Given the description of an element on the screen output the (x, y) to click on. 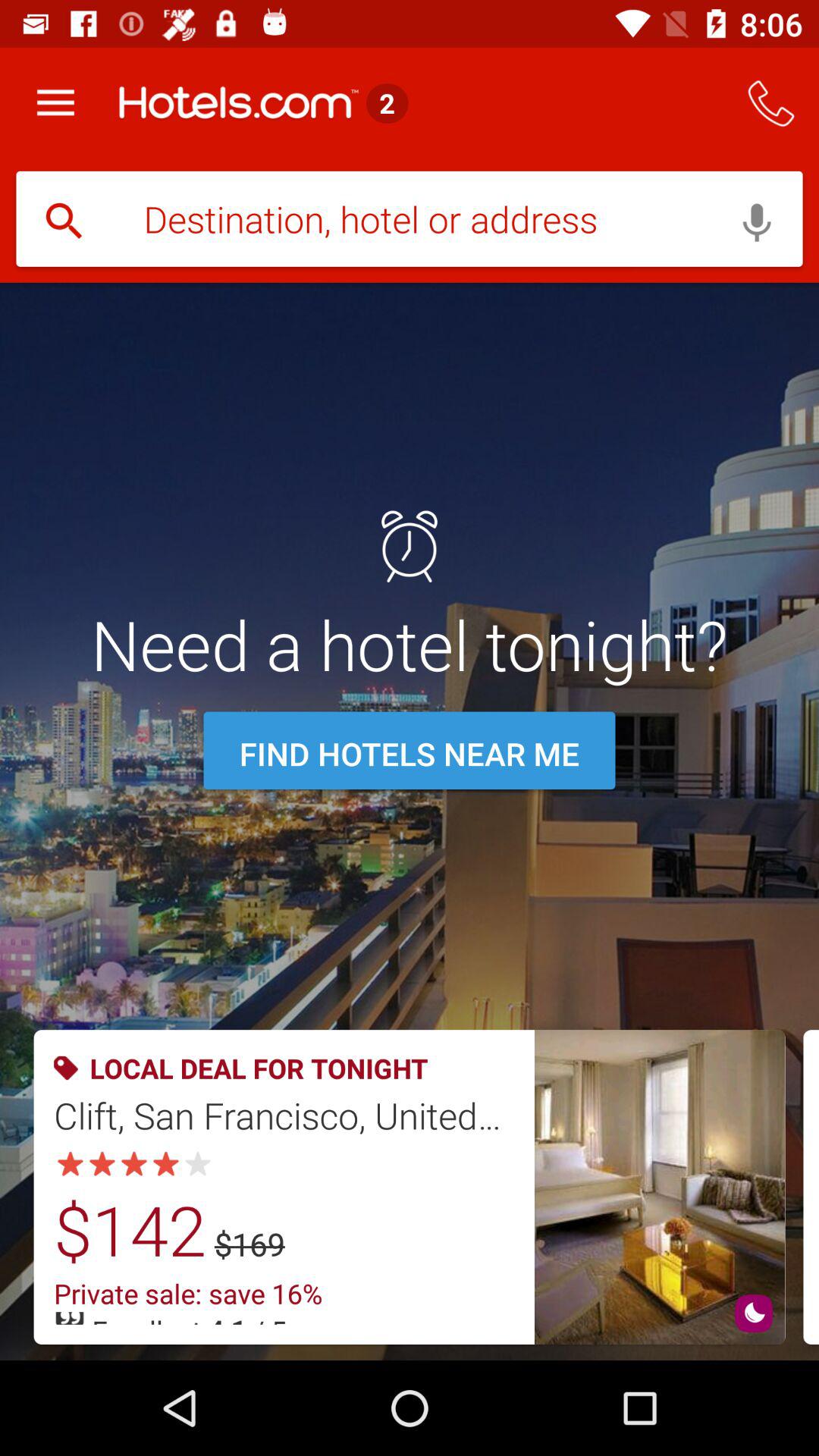
press the find hotels near (409, 753)
